Given the description of an element on the screen output the (x, y) to click on. 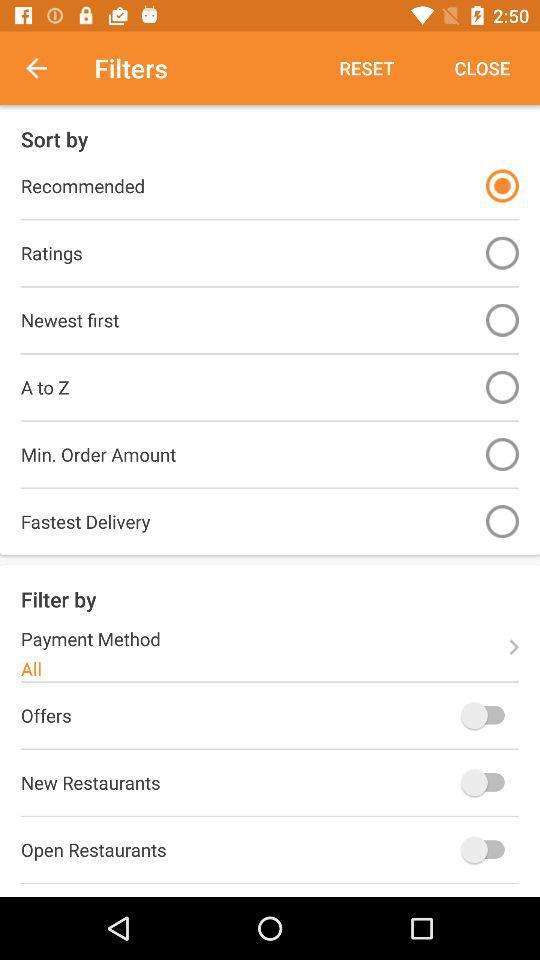
launch the item above filter by (502, 521)
